Given the description of an element on the screen output the (x, y) to click on. 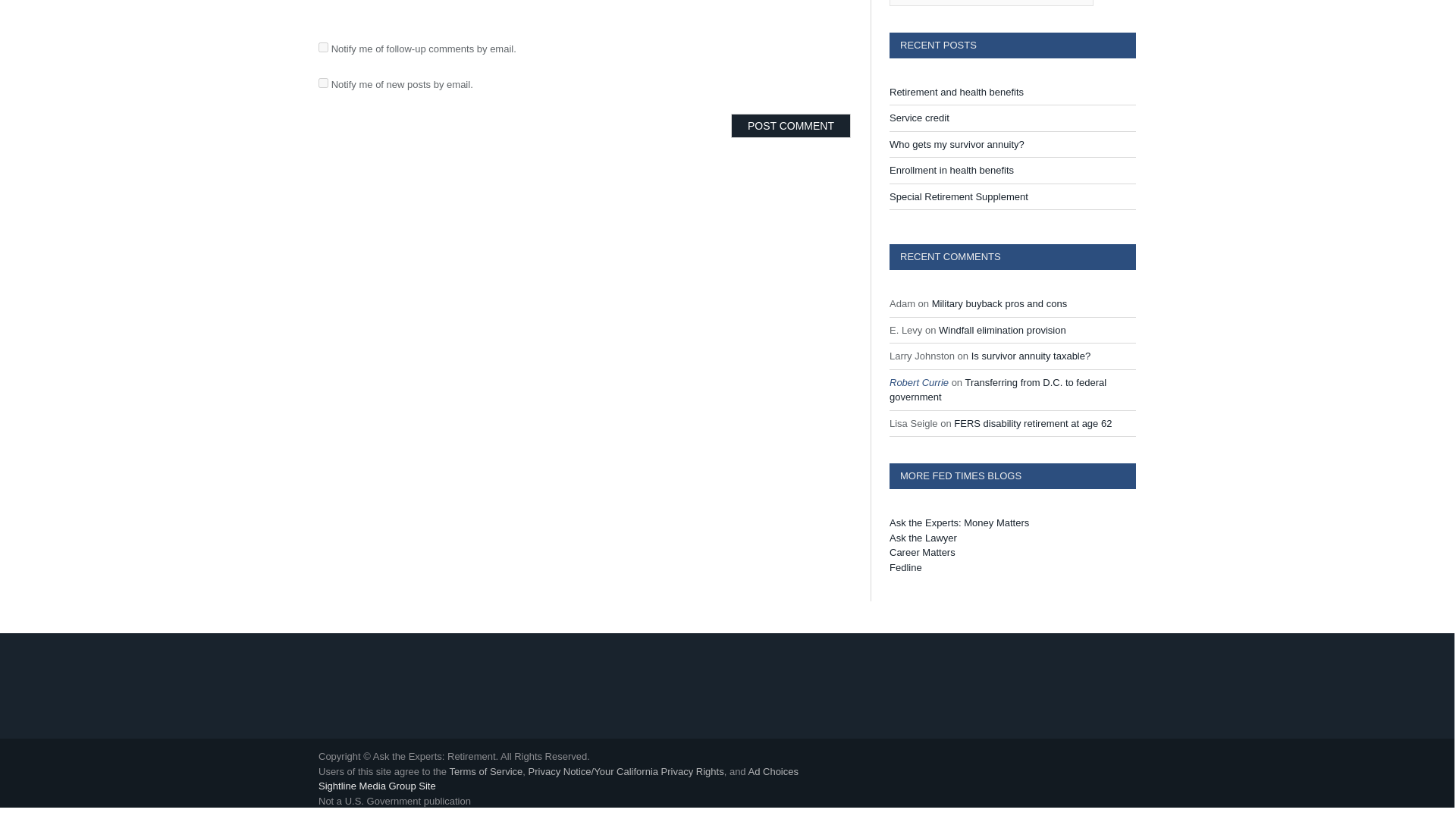
subscribe (323, 47)
subscribe (323, 82)
Post Comment (790, 125)
